Given the description of an element on the screen output the (x, y) to click on. 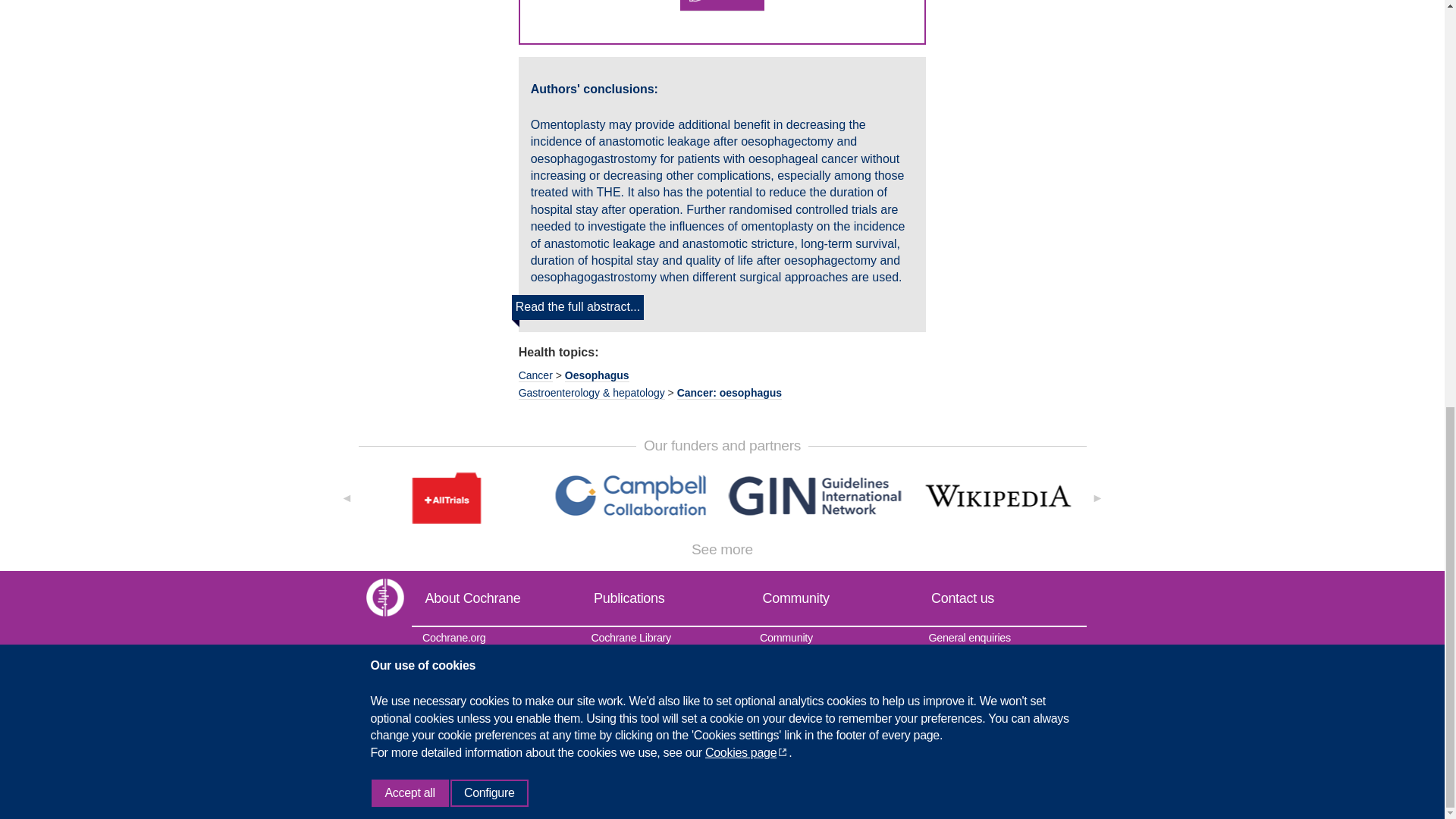
Cancer (535, 375)
Cancer: oesophagus (729, 392)
Donate (720, 5)
Oesophagus (596, 375)
AllTrials (446, 498)
Campbell Collaboration (630, 495)
